Given the description of an element on the screen output the (x, y) to click on. 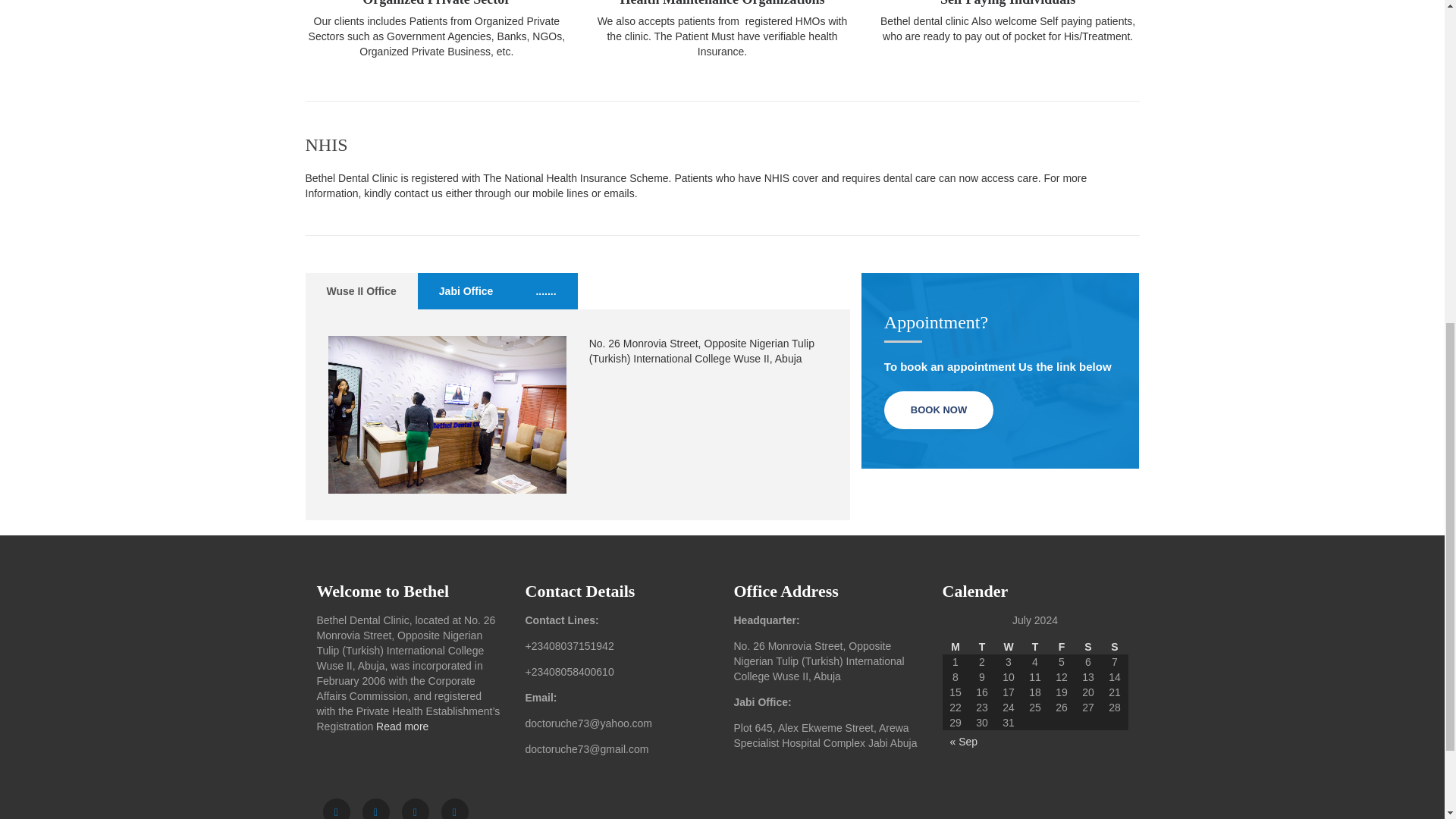
Health Maintenance Organizations (722, 3)
Friday (1061, 646)
Tuesday (982, 646)
Sunday (1113, 646)
Wednesday (1008, 646)
Wuse II Office (360, 290)
Monday (955, 646)
Organized Private Sector (436, 3)
BOOK NOW (937, 410)
Jabi Office (466, 290)
Self Paying Individuals (1007, 3)
Read more (401, 726)
Thursday (1035, 646)
....... (544, 290)
Saturday (1088, 646)
